Given the description of an element on the screen output the (x, y) to click on. 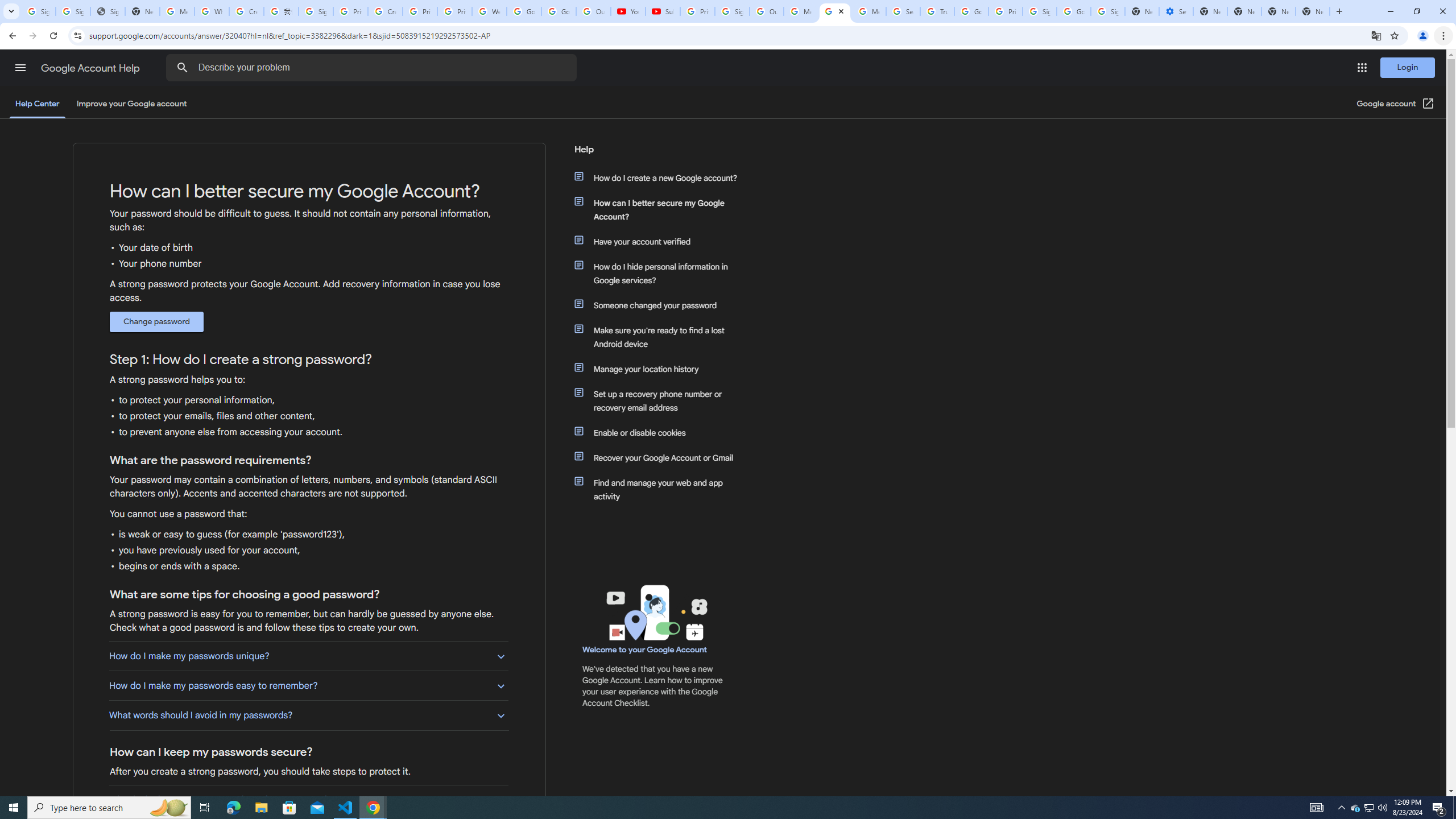
YouTube (627, 11)
Sign in - Google Accounts (315, 11)
Someone changed your password (661, 305)
Recover your Google Account or Gmail (661, 457)
Trusted Information and Content - Google Safety Center (937, 11)
Search our Doodle Library Collection - Google Doodles (903, 11)
Enable or disable cookies (661, 432)
Create your Google Account (384, 11)
How do I hide personal information in Google services? (661, 273)
Set up a recovery phone number or recovery email address (661, 400)
